Given the description of an element on the screen output the (x, y) to click on. 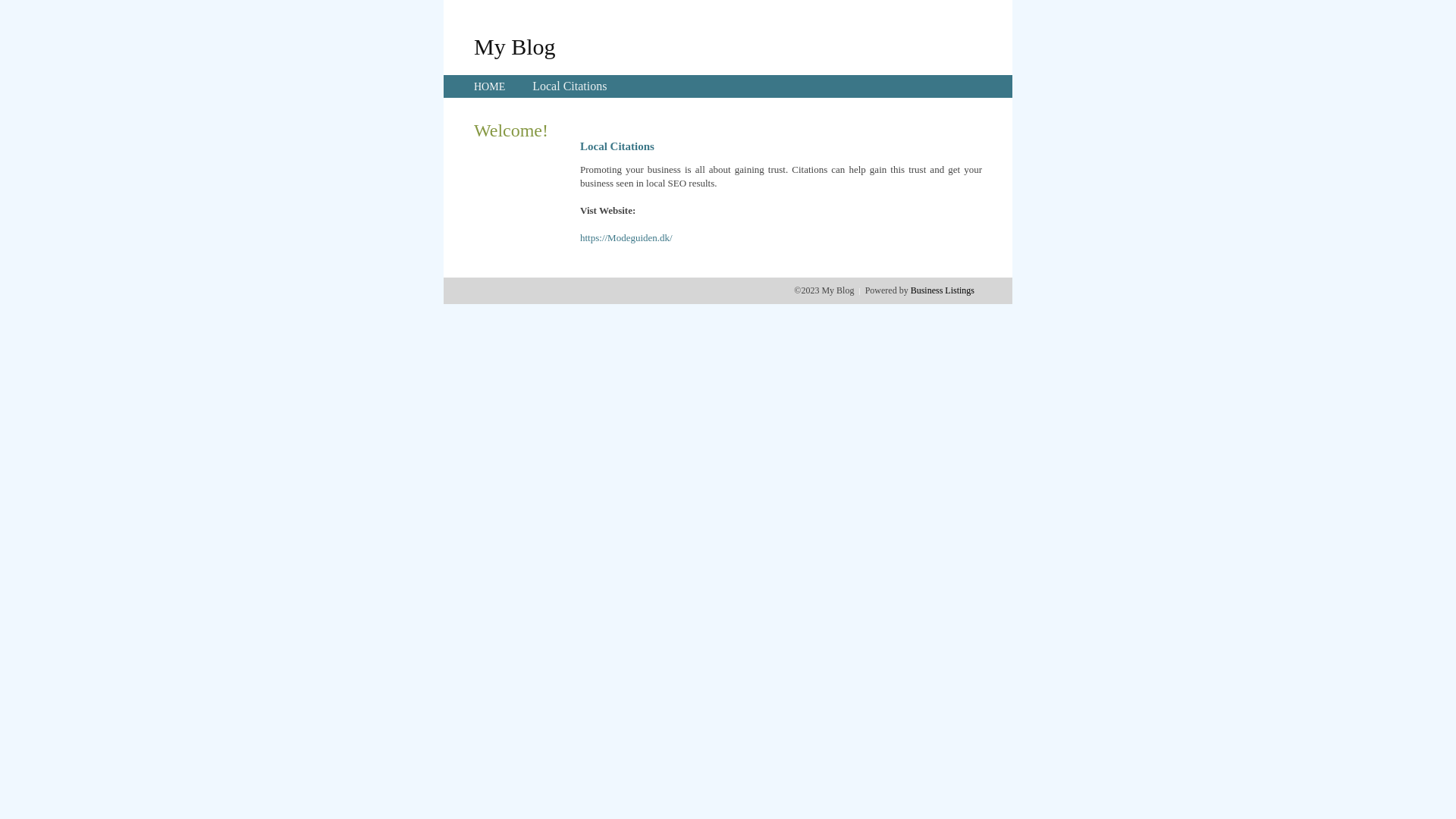
HOME Element type: text (489, 86)
My Blog Element type: text (514, 46)
Local Citations Element type: text (569, 85)
Business Listings Element type: text (942, 290)
https://Modeguiden.dk/ Element type: text (626, 237)
